Given the description of an element on the screen output the (x, y) to click on. 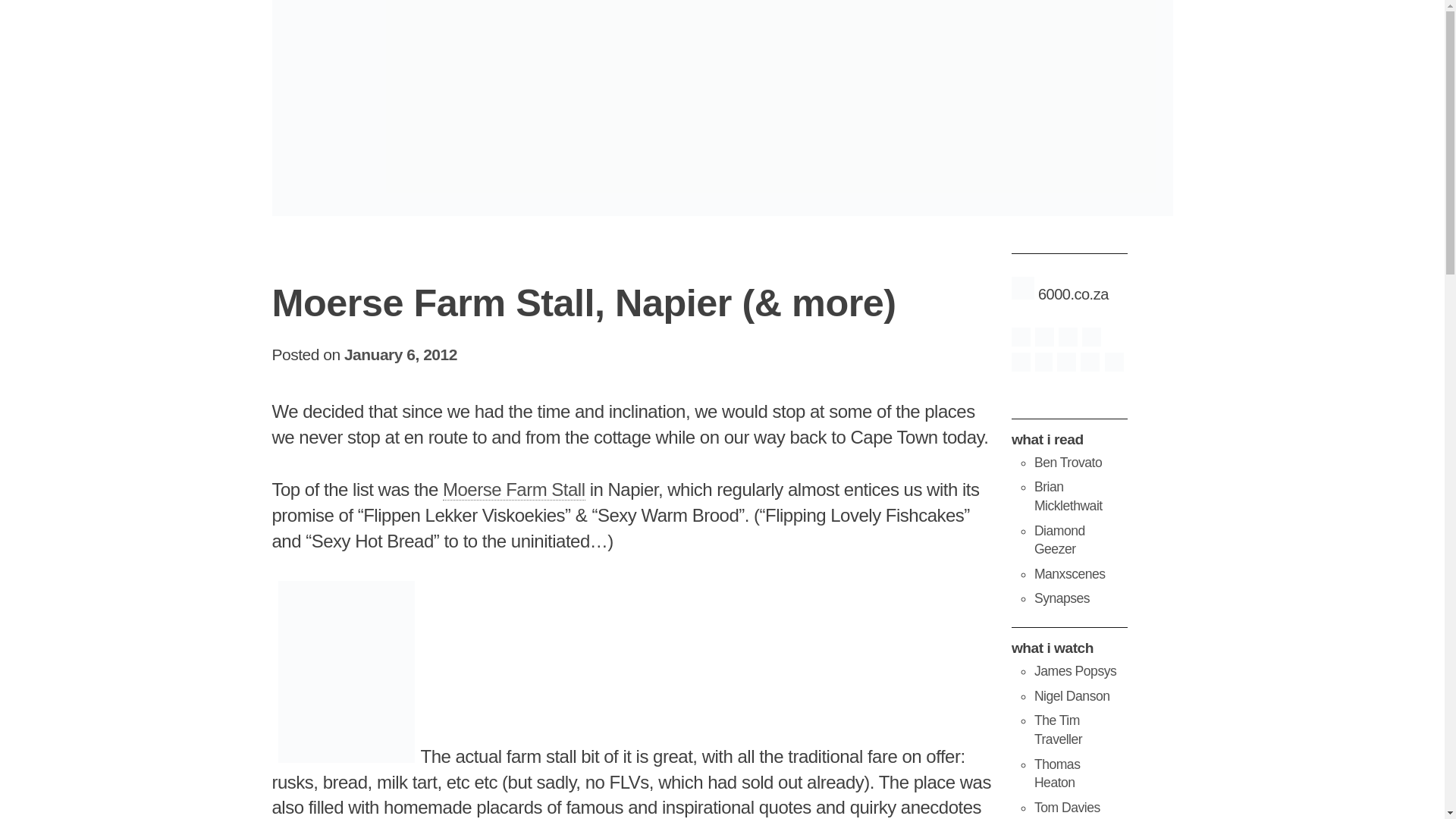
Brian Micklethwait (1067, 496)
UK landscape photographer (1071, 695)
Daily tales of London (1058, 540)
Diamond Geezer (1058, 540)
January 6, 2012 (400, 354)
Synapses (1061, 598)
Photography advice from the UK (1074, 670)
jacques talks mostly sense (1061, 598)
Ben Trovato (1067, 462)
Link (513, 489)
James Popsys (1074, 670)
Nigel Danson (1071, 695)
Geoguessr God (1066, 807)
Eclectic mix of social commentary (1067, 496)
